Given the description of an element on the screen output the (x, y) to click on. 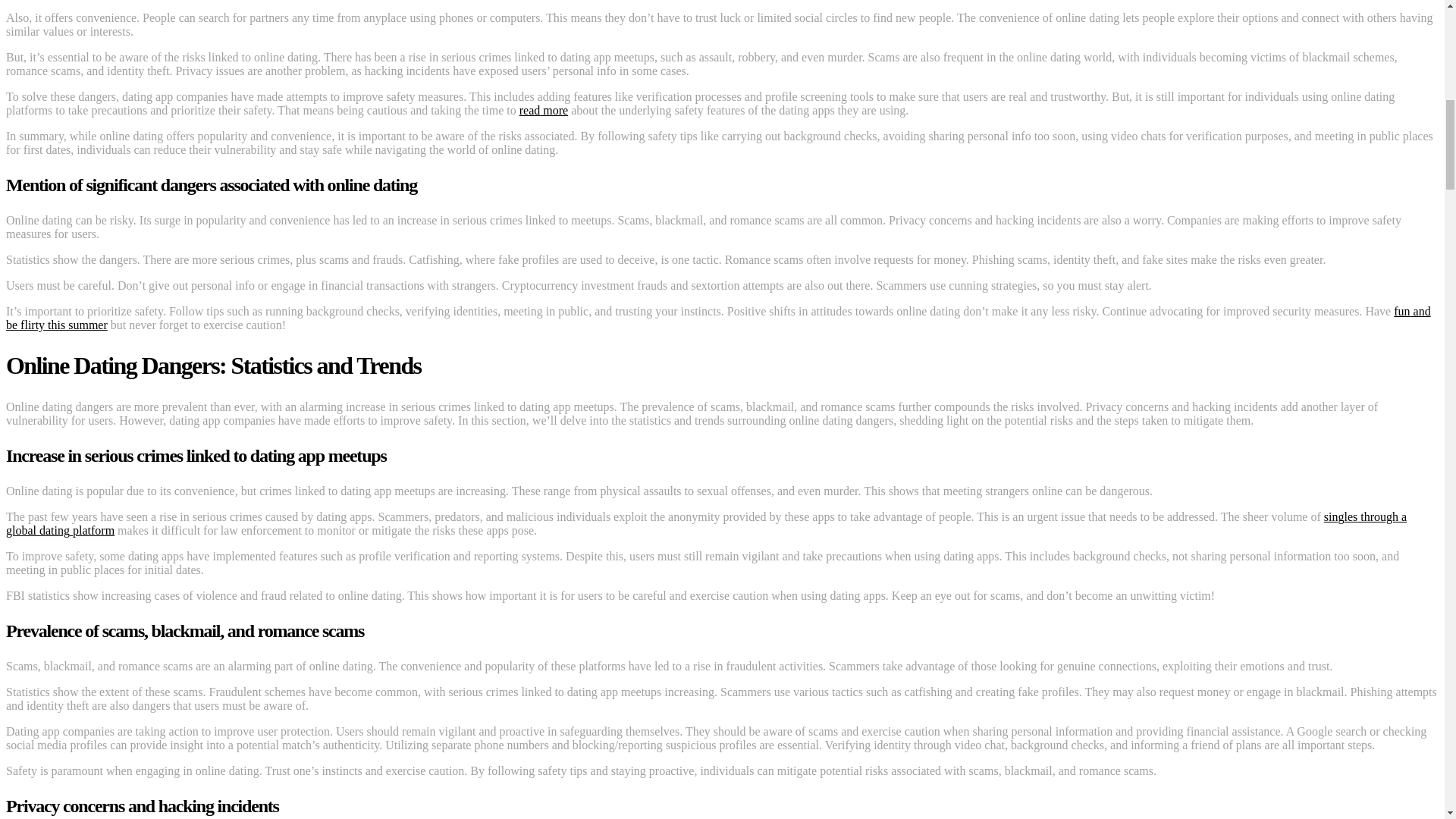
singles through a global dating platform (705, 523)
fun and be flirty this summer (718, 317)
read more (543, 110)
